Given the description of an element on the screen output the (x, y) to click on. 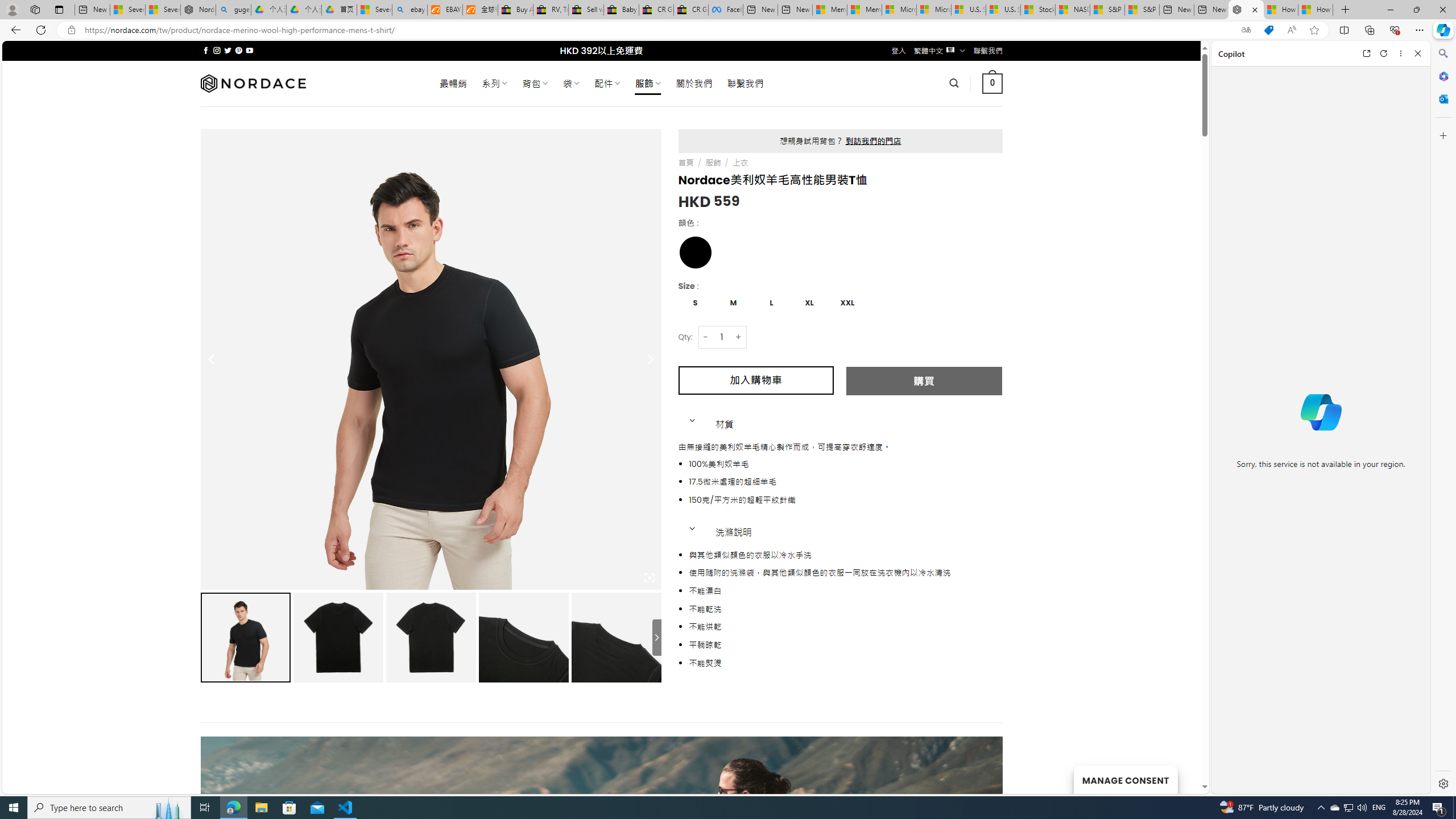
Nordace (252, 83)
Open link in new tab (1366, 53)
Microsoft 365 (1442, 76)
Follow on Pinterest (237, 50)
Search (1442, 53)
Follow on Facebook (205, 50)
More options (1401, 53)
Follow on YouTube (249, 50)
